Given the description of an element on the screen output the (x, y) to click on. 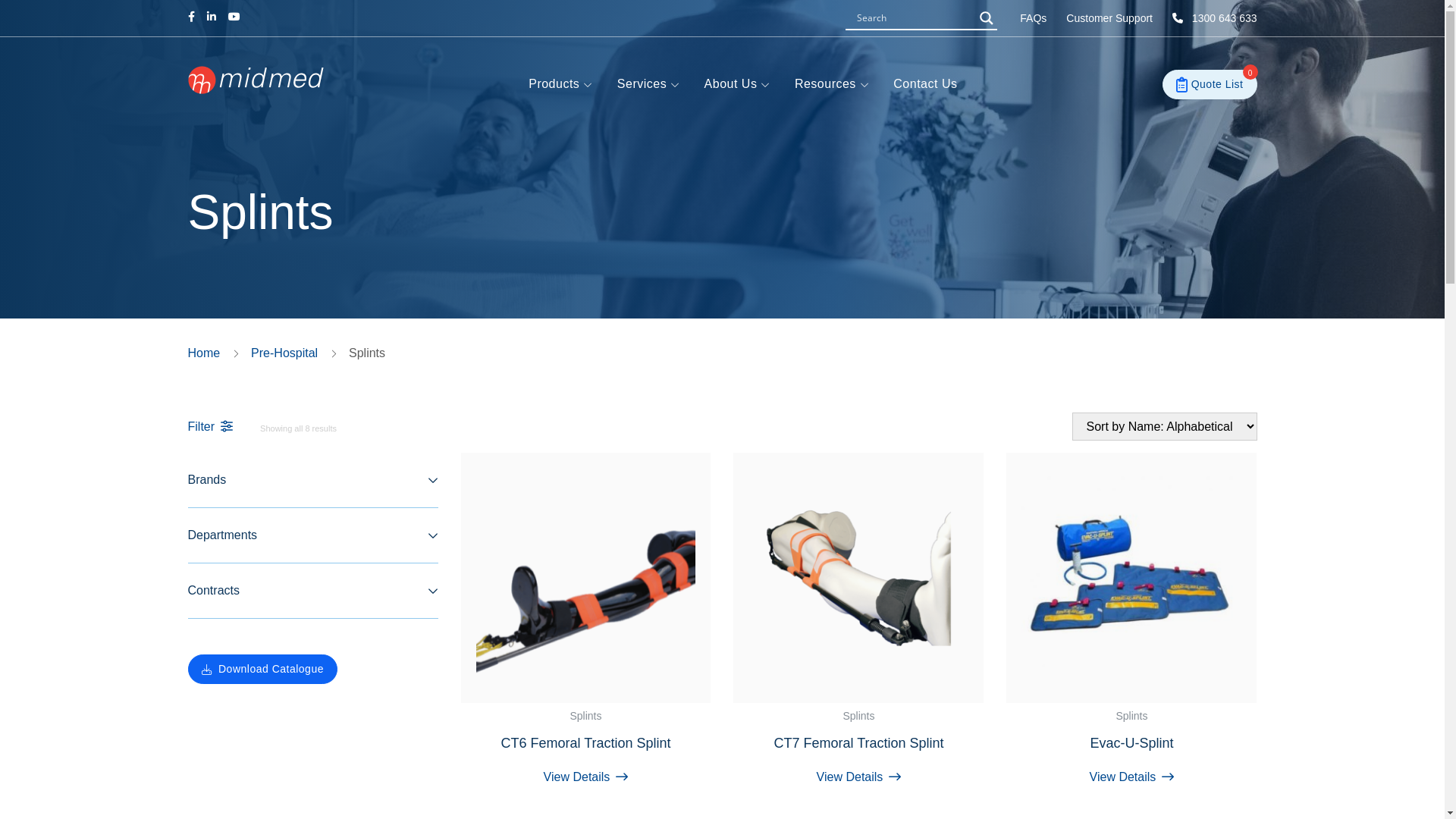
View Details Element type: text (858, 776)
Products Element type: text (560, 84)
Contact Us Element type: text (925, 83)
Resources Element type: text (831, 84)
Customer Support Element type: text (1109, 18)
Services Element type: text (648, 84)
Download Catalogue Element type: text (262, 669)
Pre-Hospital Element type: text (284, 352)
View Details Element type: text (586, 776)
About Us Element type: text (737, 84)
Marker.io notification overlay Element type: hover (1140, 303)
Quote List Element type: text (1209, 84)
View Details Element type: text (1131, 776)
Filter Element type: text (210, 425)
1300 643 633 Element type: text (1214, 18)
Evac-U-Splint Element type: text (1131, 759)
CT6 Femoral Traction Splint Element type: text (586, 759)
FAQs Element type: text (1032, 18)
Home Element type: text (204, 352)
CT7 Femoral Traction Splint Element type: text (858, 759)
